Given the description of an element on the screen output the (x, y) to click on. 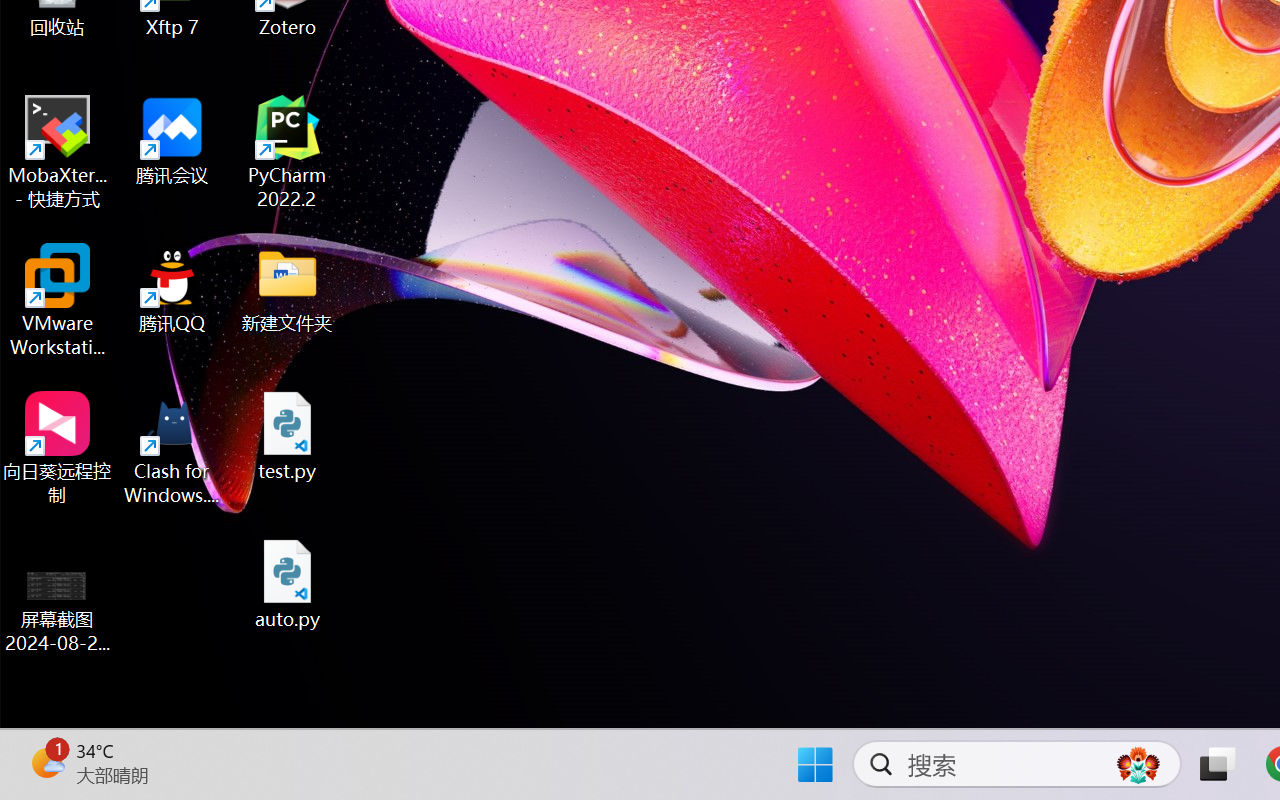
PyCharm 2022.2 (287, 152)
VMware Workstation Pro (57, 300)
auto.py (287, 584)
test.py (287, 436)
